Given the description of an element on the screen output the (x, y) to click on. 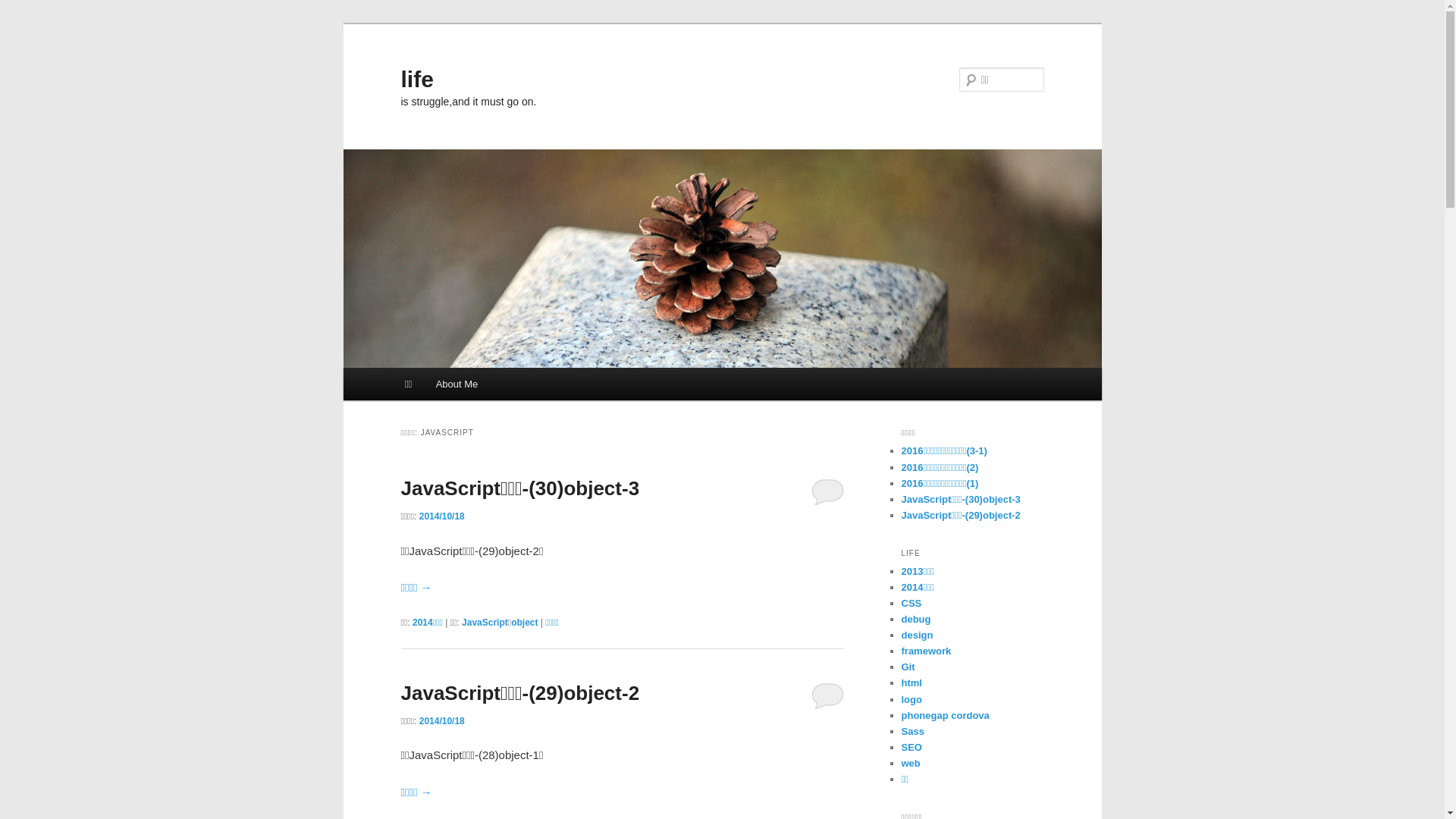
life Element type: text (416, 78)
SEO Element type: text (910, 747)
About Me Element type: text (456, 383)
JavaScript Element type: text (484, 622)
logo Element type: text (910, 698)
phonegap cordova Element type: text (944, 715)
debug Element type: text (915, 618)
Sass Element type: text (911, 731)
2014/10/18 Element type: text (441, 720)
CSS Element type: text (910, 602)
web Element type: text (909, 762)
design Element type: text (916, 634)
object Element type: text (524, 622)
Git Element type: text (907, 666)
2014/10/18 Element type: text (441, 516)
html Element type: text (910, 682)
framework Element type: text (925, 650)
